Given the description of an element on the screen output the (x, y) to click on. 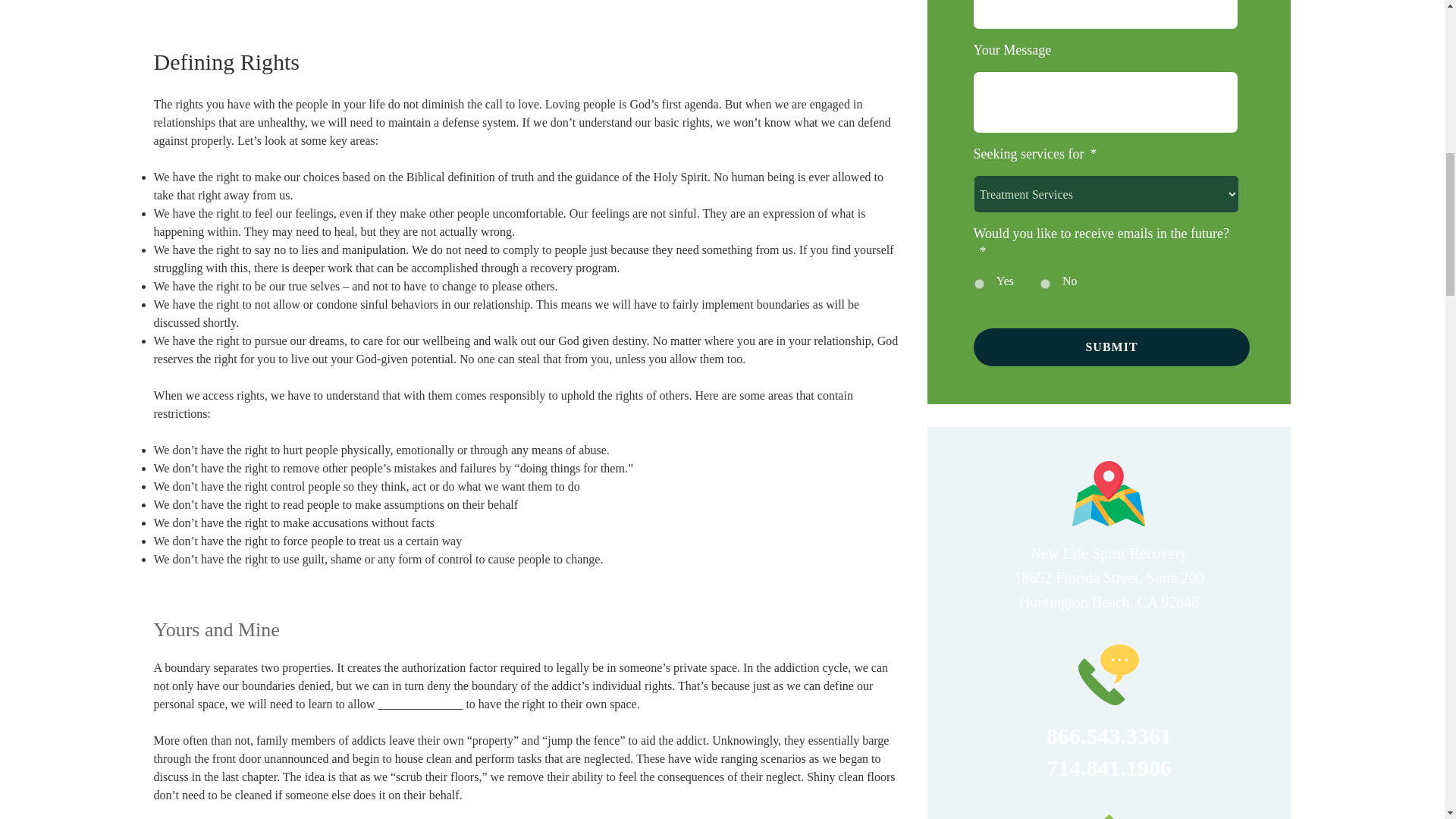
Yes (979, 284)
Submit (1112, 347)
No (1045, 284)
Submit (1112, 347)
